Given the description of an element on the screen output the (x, y) to click on. 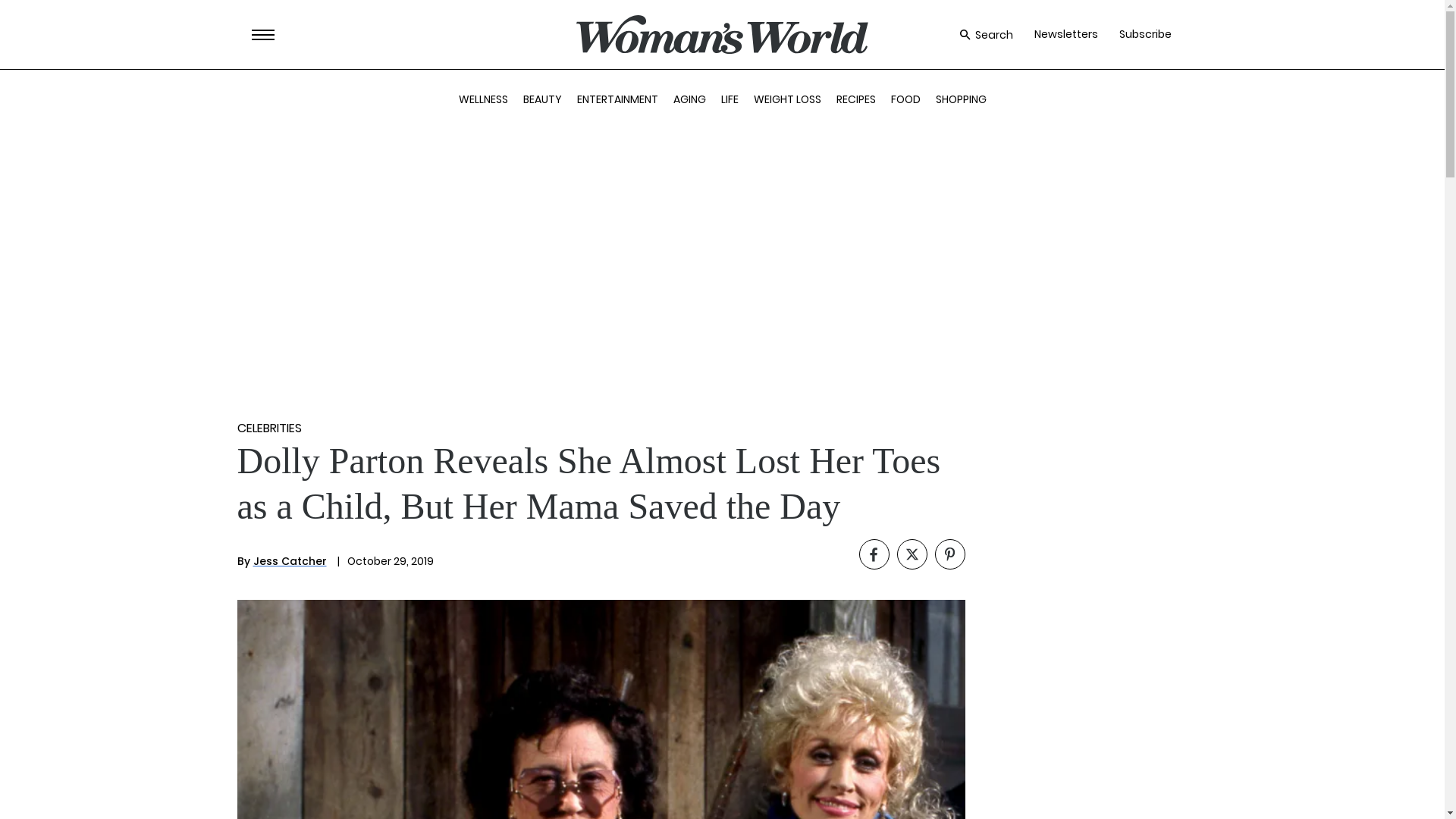
Click to share on Facebook (873, 553)
Newsletters (1065, 33)
Subscribe (1145, 33)
Click to share on Pinterest (948, 553)
MENU (263, 34)
Click to share on Twitter (911, 553)
